Given the description of an element on the screen output the (x, y) to click on. 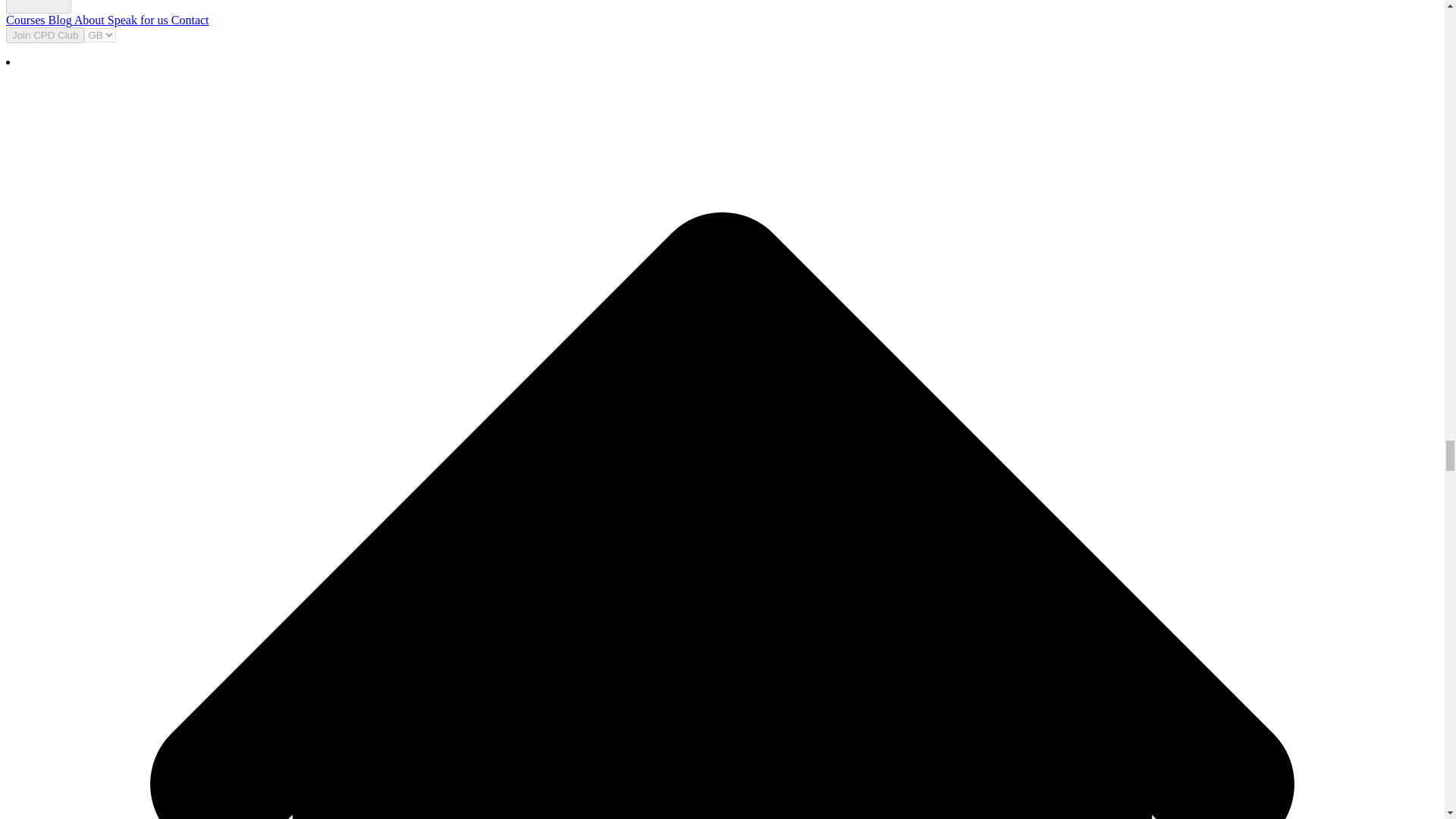
Courses (25, 19)
Contact (188, 19)
Blog (58, 19)
About (87, 19)
Join CPD Club (44, 35)
Open menu (38, 6)
Speak for us (136, 19)
Join CPD Club (44, 33)
